Given the description of an element on the screen output the (x, y) to click on. 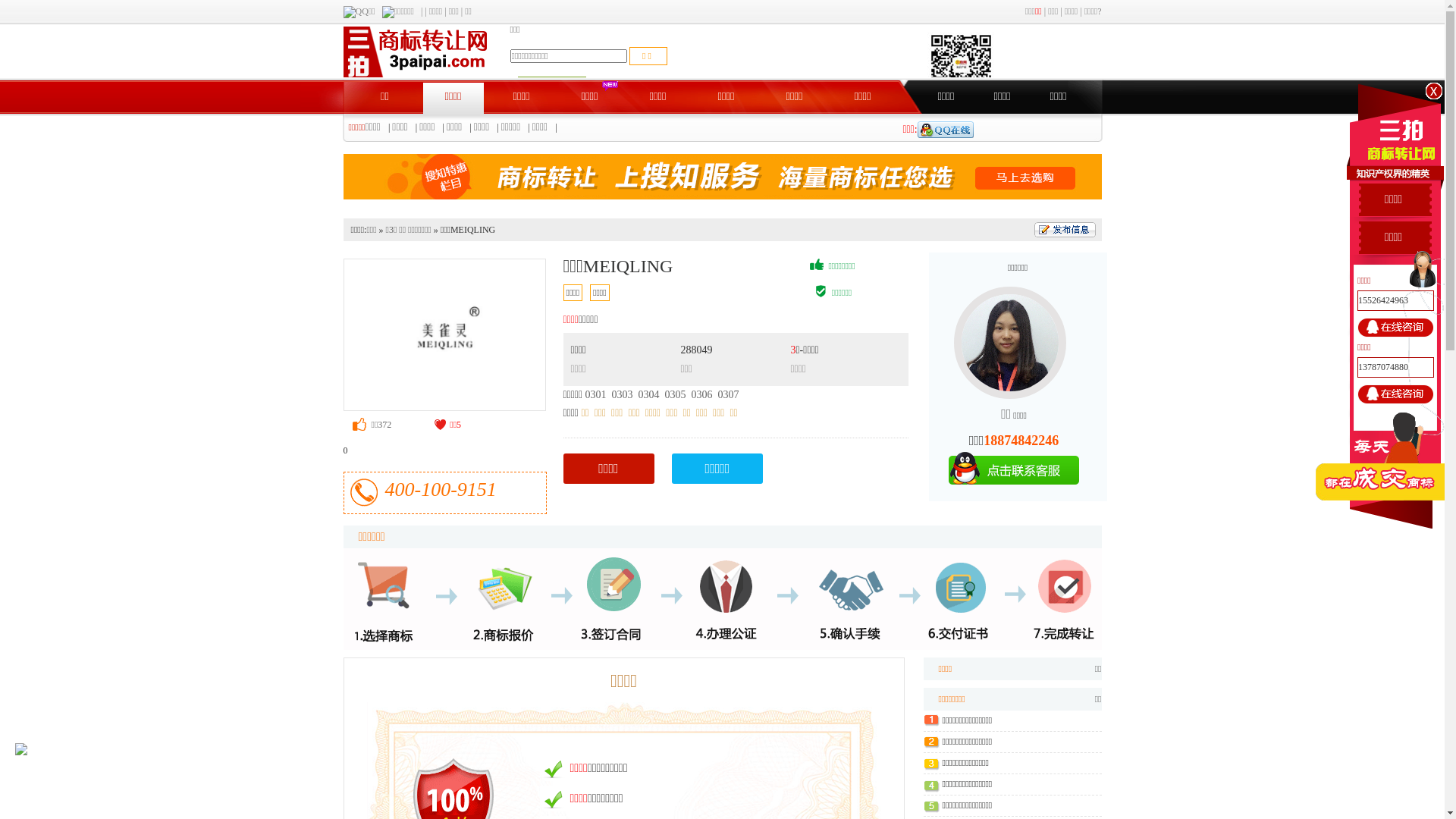
0307 Element type: text (728, 394)
0301 Element type: text (595, 394)
0304 Element type: text (648, 394)
0305 Element type: text (675, 394)
0303 Element type: text (622, 394)
0306 Element type: text (701, 394)
